Given the description of an element on the screen output the (x, y) to click on. 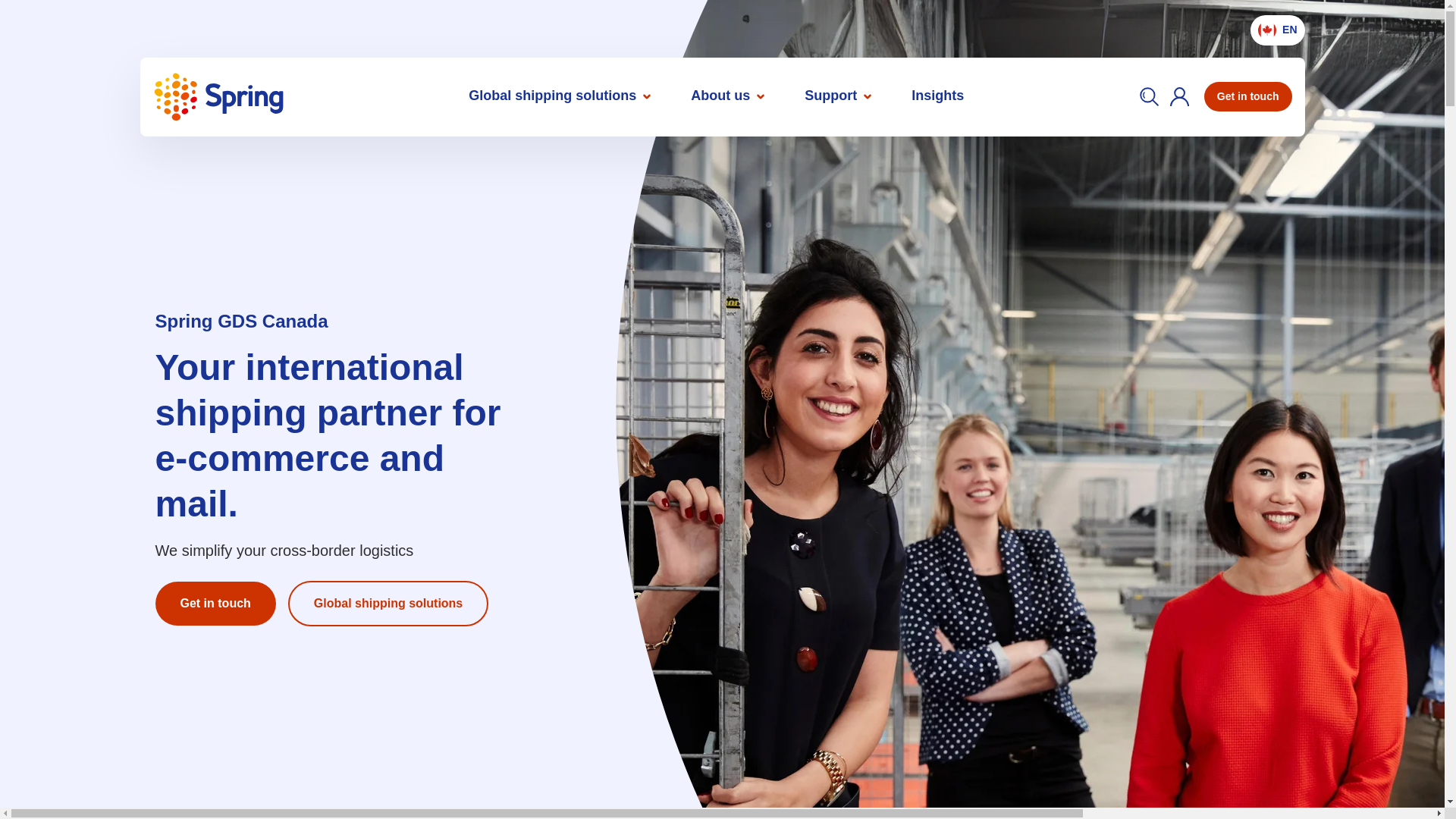
Search (1149, 96)
Get in touch (1248, 96)
EN (1277, 30)
